Given the description of an element on the screen output the (x, y) to click on. 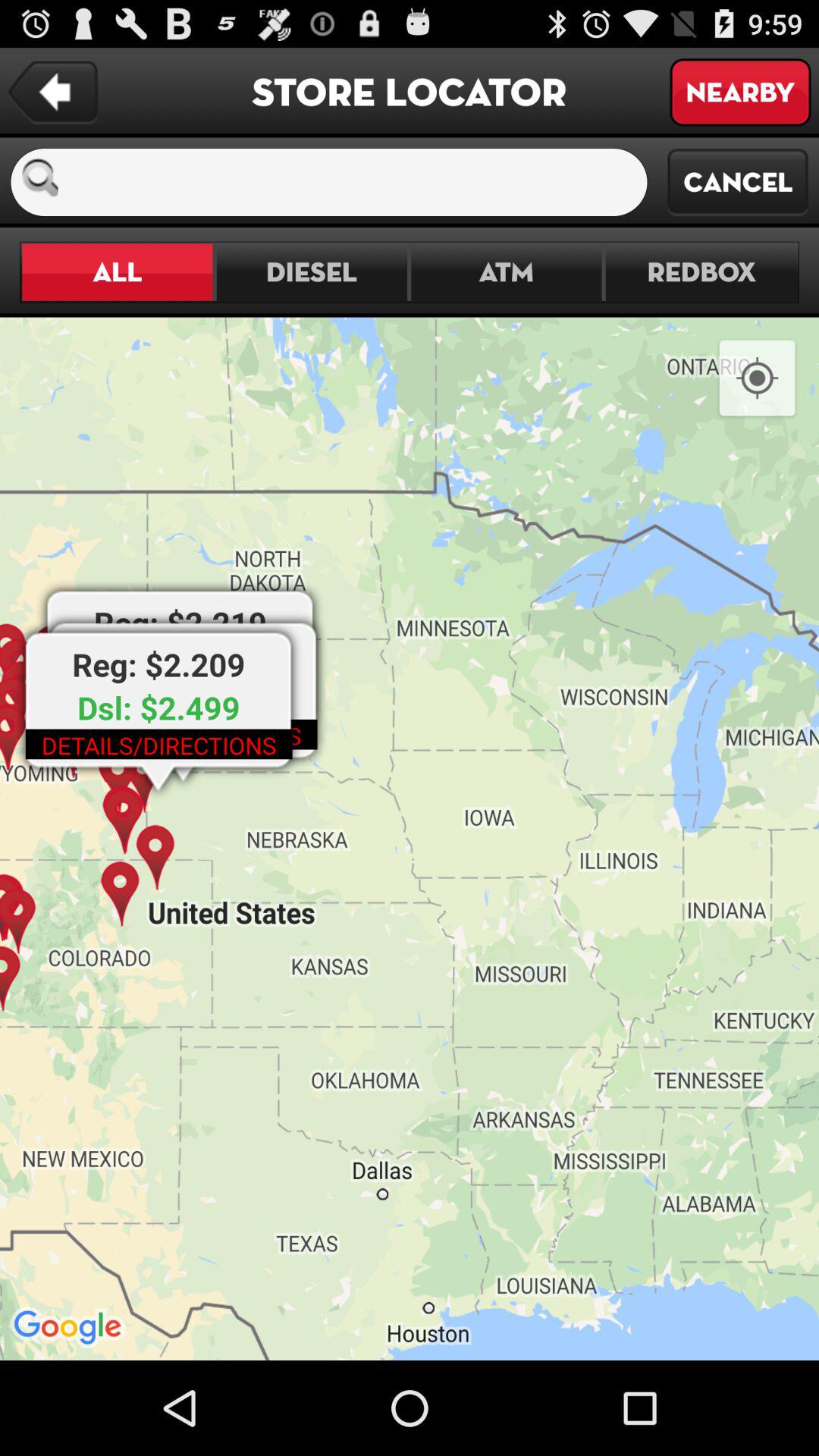
flip until the redbox icon (700, 271)
